Given the description of an element on the screen output the (x, y) to click on. 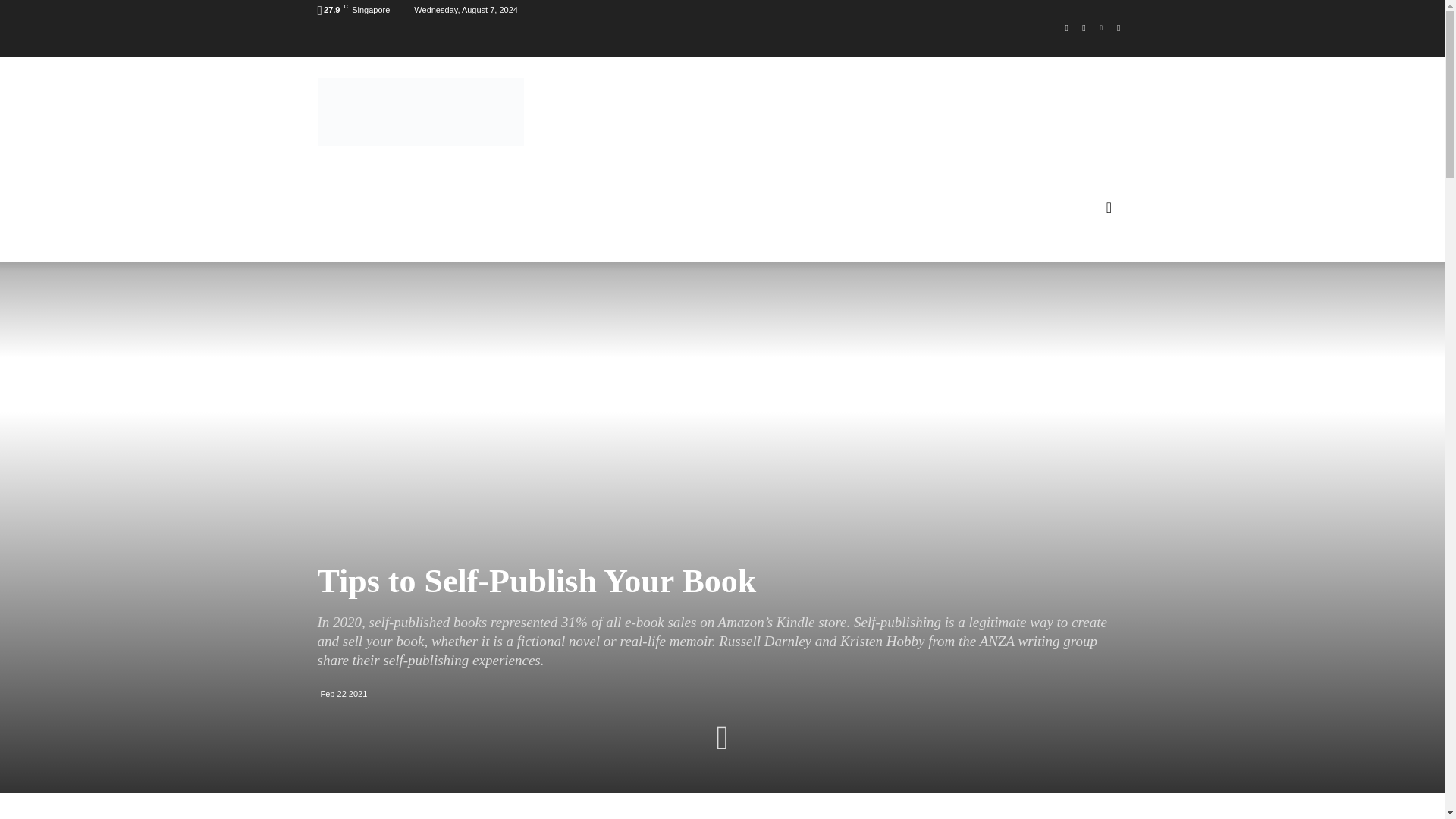
Linkedin (1101, 27)
Twitter (1117, 27)
Join the Community (419, 111)
Instagram (1084, 27)
Facebook (1066, 27)
